Given the description of an element on the screen output the (x, y) to click on. 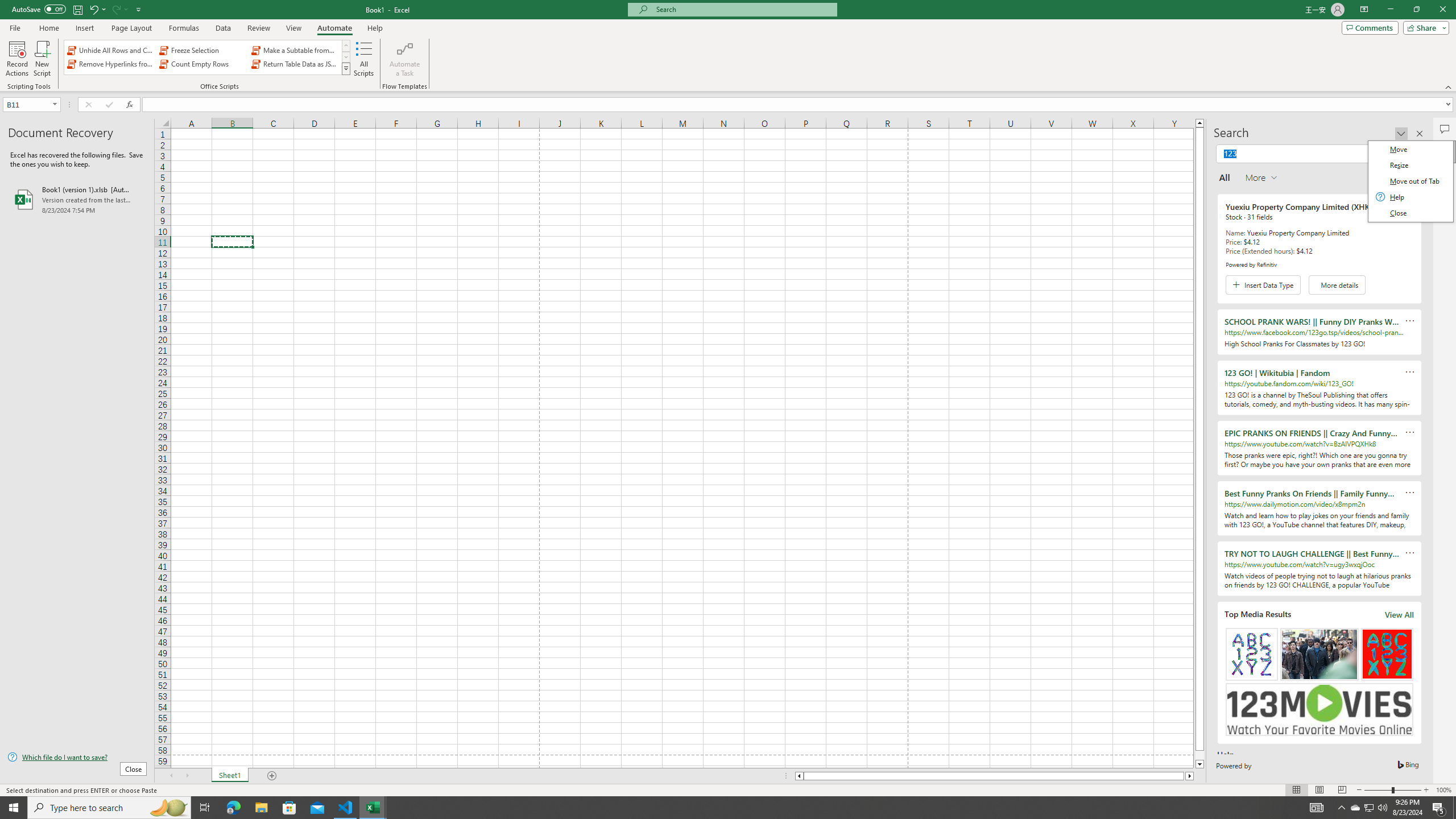
AutomationID: 4105 (1316, 807)
Class: Net UI Tool Window (1410, 181)
Unhide All Rows and Columns (111, 50)
